Given the description of an element on the screen output the (x, y) to click on. 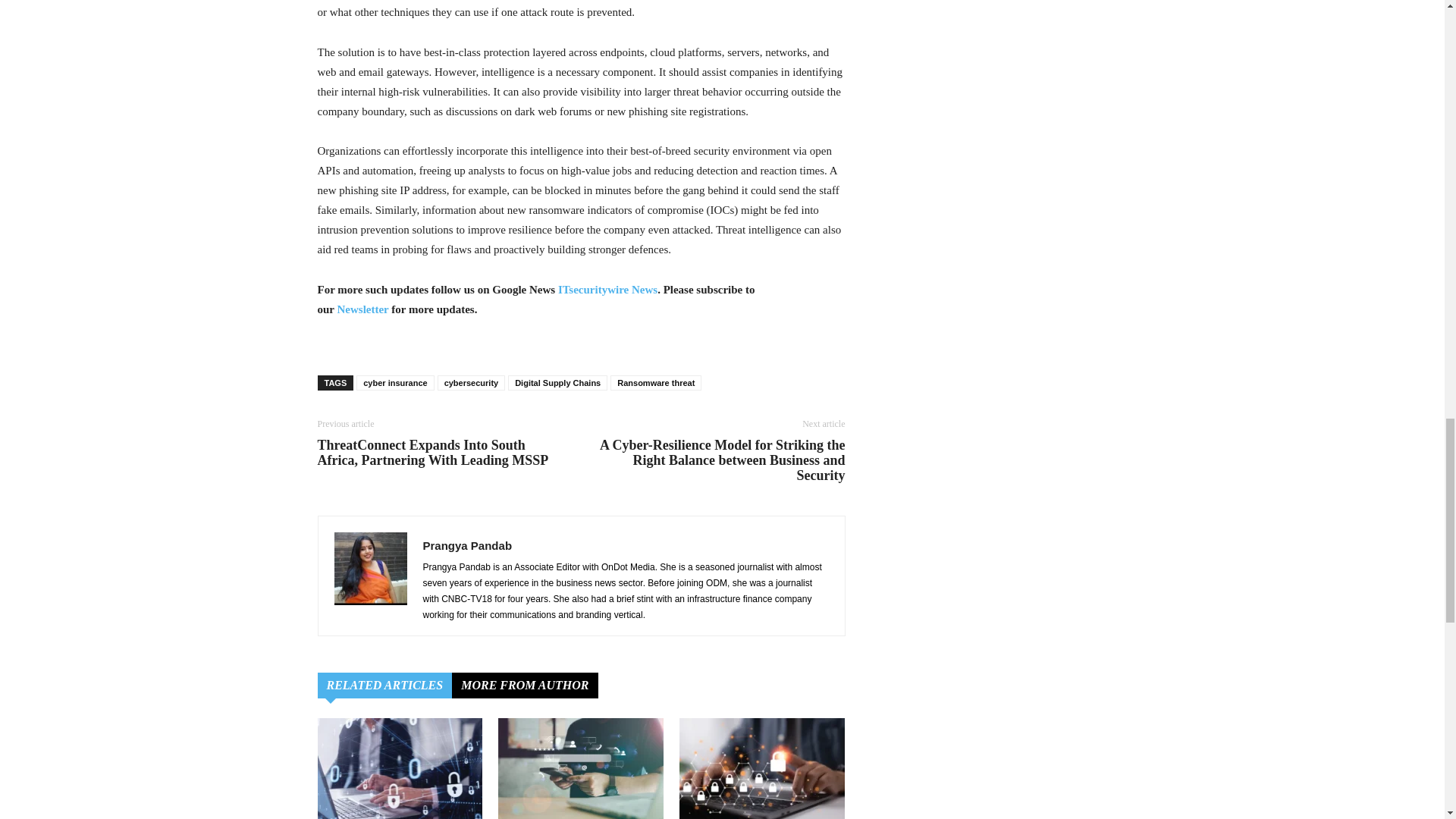
Four Tips for Building a Robust Fraud Management Strategy (399, 768)
6 Key Strategies to Enhance B2B Website Security (580, 768)
